Given the description of an element on the screen output the (x, y) to click on. 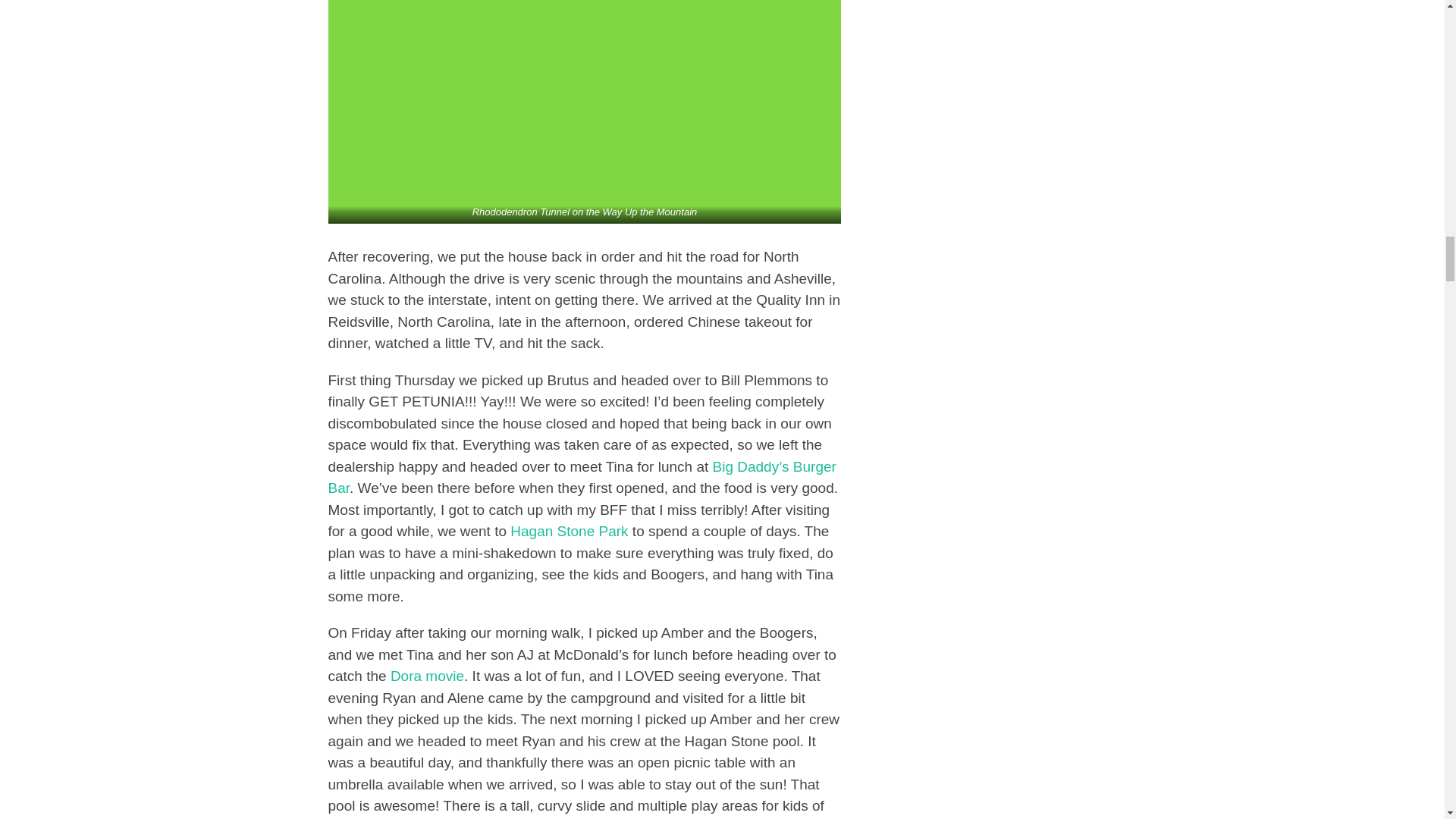
Dora movie (427, 675)
Hagan Stone Park (569, 530)
